Given the description of an element on the screen output the (x, y) to click on. 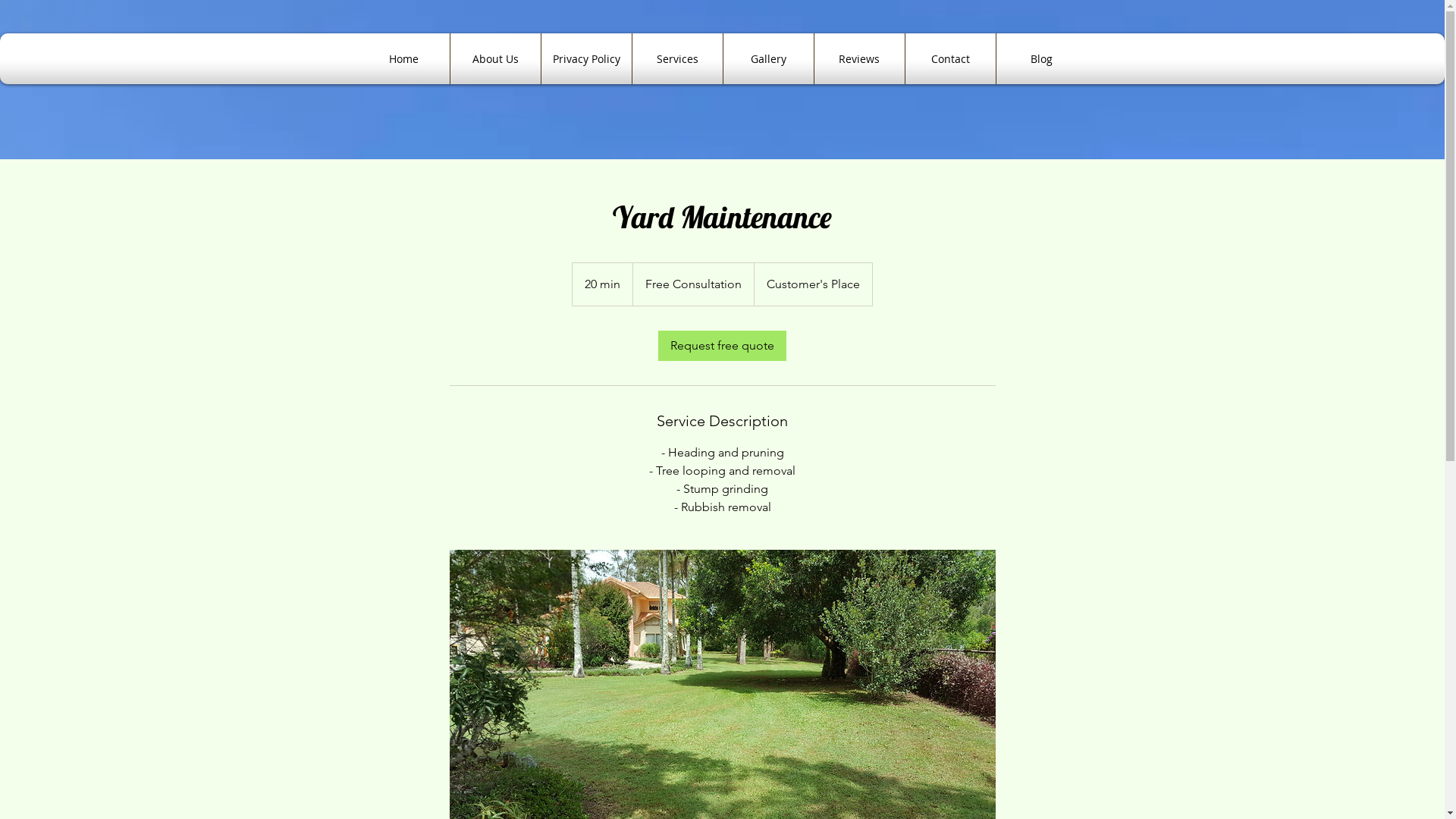
Privacy Policy Element type: text (585, 58)
Request free quote Element type: text (722, 345)
Services Element type: text (676, 58)
Gallery Element type: text (767, 58)
Reviews Element type: text (858, 58)
Blog Element type: text (1040, 58)
Home Element type: text (403, 58)
About Us Element type: text (494, 58)
Contact Element type: text (949, 58)
